Given the description of an element on the screen output the (x, y) to click on. 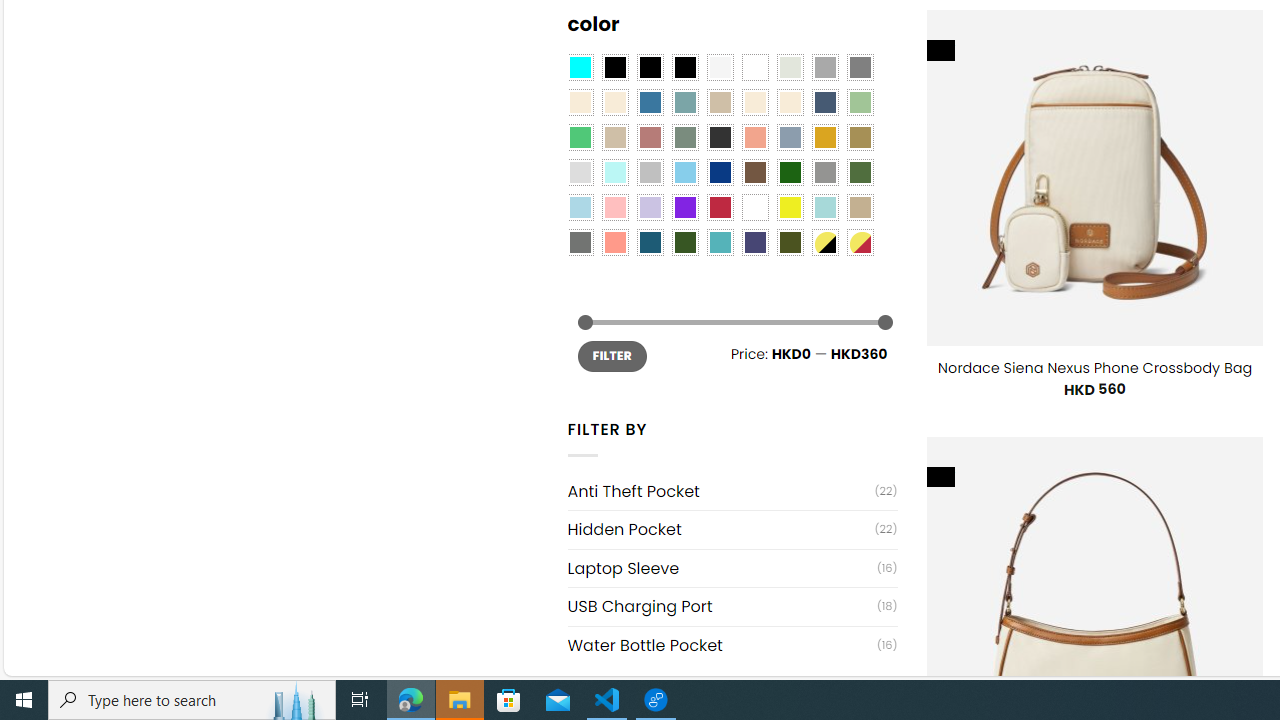
Light Blue (579, 208)
Light Purple (650, 208)
Hale Navy (824, 102)
Hidden Pocket (721, 529)
Aqua Blue (579, 67)
Light Taupe (614, 138)
Green (859, 172)
Brownie (719, 102)
Anti Theft Pocket(22) (732, 491)
Laptop Sleeve (721, 568)
Beige-Brown (614, 102)
FILTER (612, 356)
Forest (684, 242)
Teal (719, 242)
Gray (824, 172)
